Given the description of an element on the screen output the (x, y) to click on. 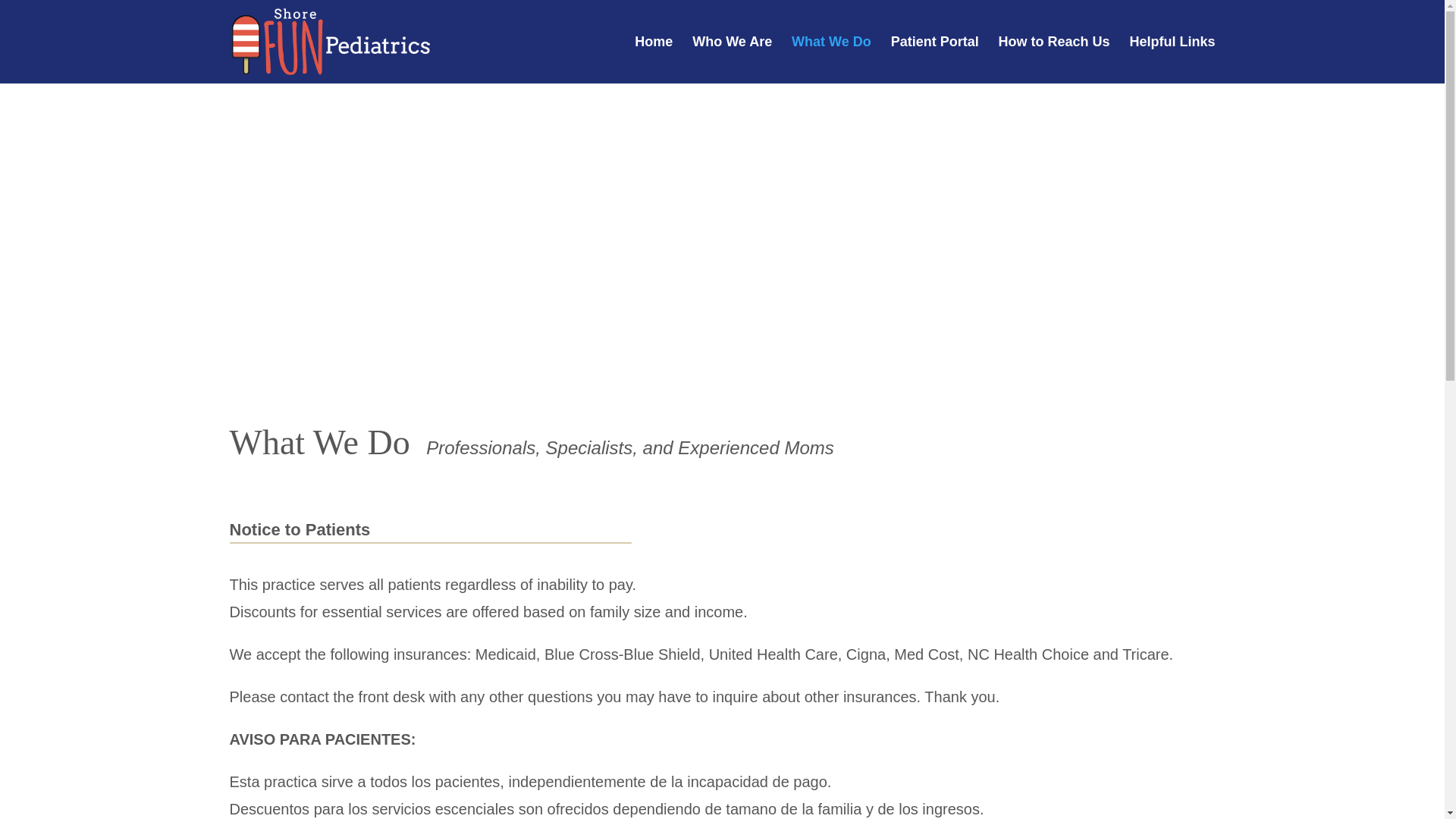
Helpful Links (1171, 59)
How to Reach Us (1053, 59)
Who We Are (732, 59)
What We Do (831, 59)
Patient Portal (934, 59)
